Given the description of an element on the screen output the (x, y) to click on. 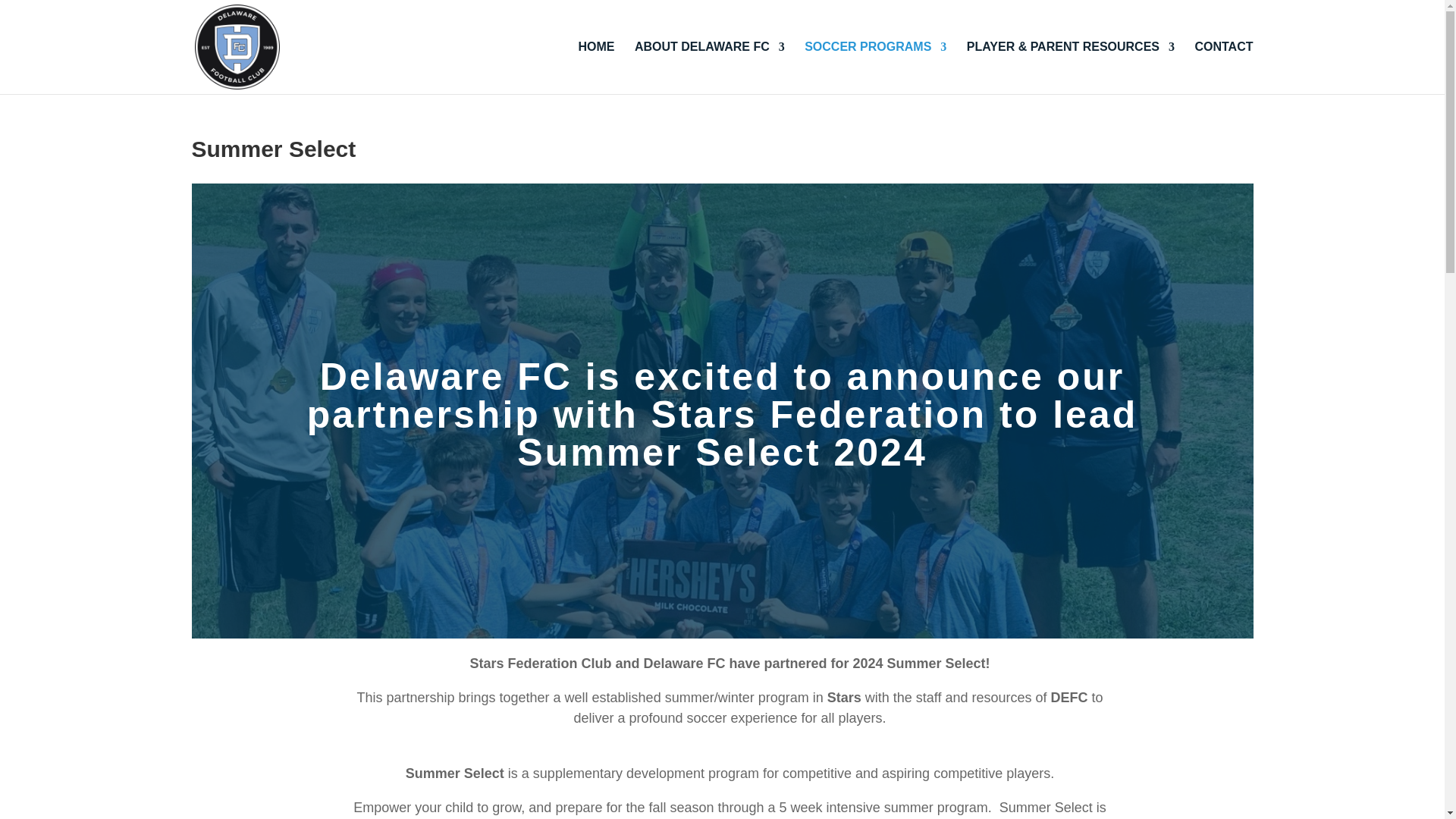
SOCCER PROGRAMS (875, 67)
ABOUT DELAWARE FC (709, 67)
